Given the description of an element on the screen output the (x, y) to click on. 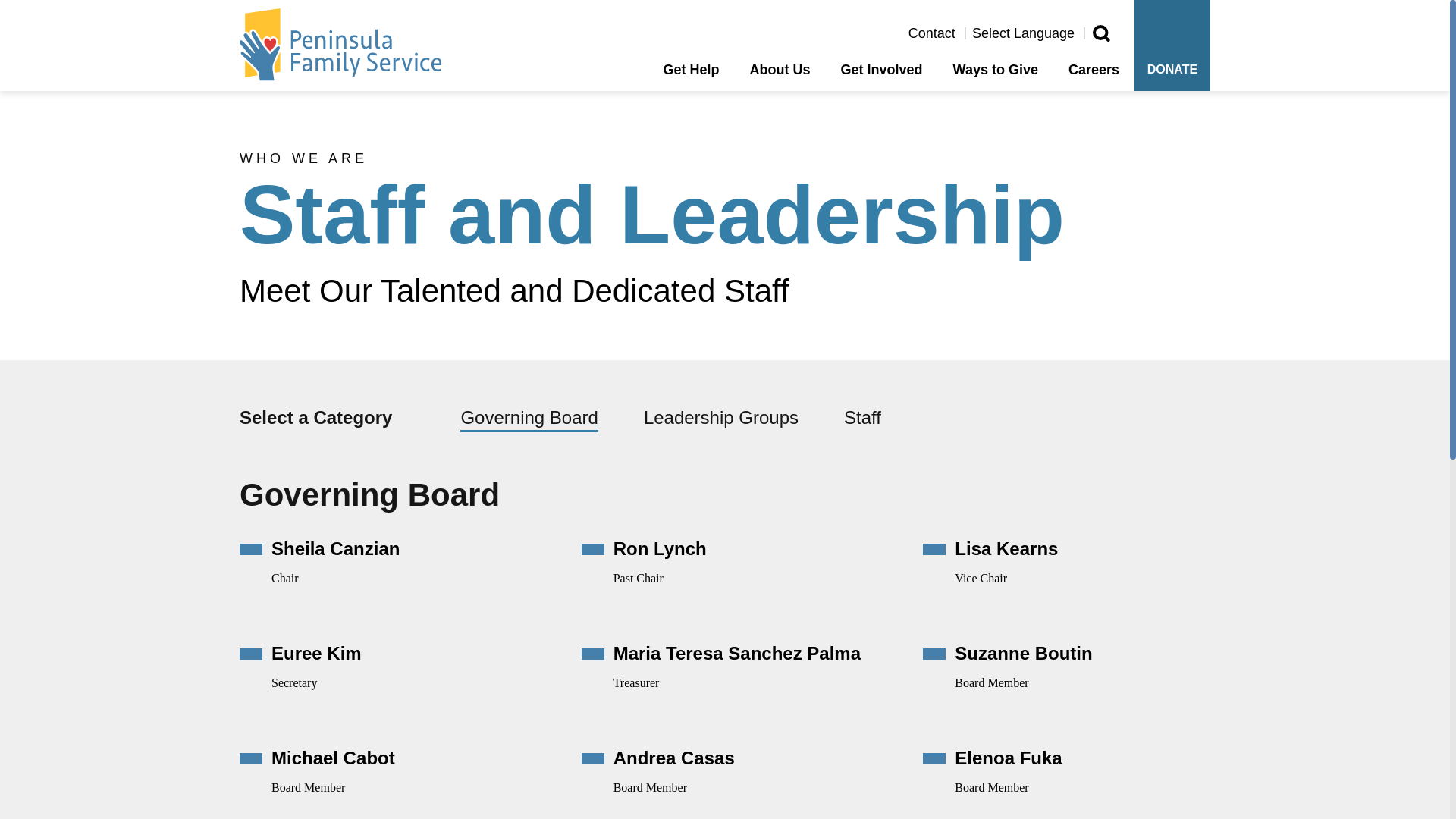
Get Help (691, 76)
Select Language (1023, 32)
Contact (931, 32)
Get Involved (882, 76)
About Us (779, 76)
Ways to Give (995, 76)
